Given the description of an element on the screen output the (x, y) to click on. 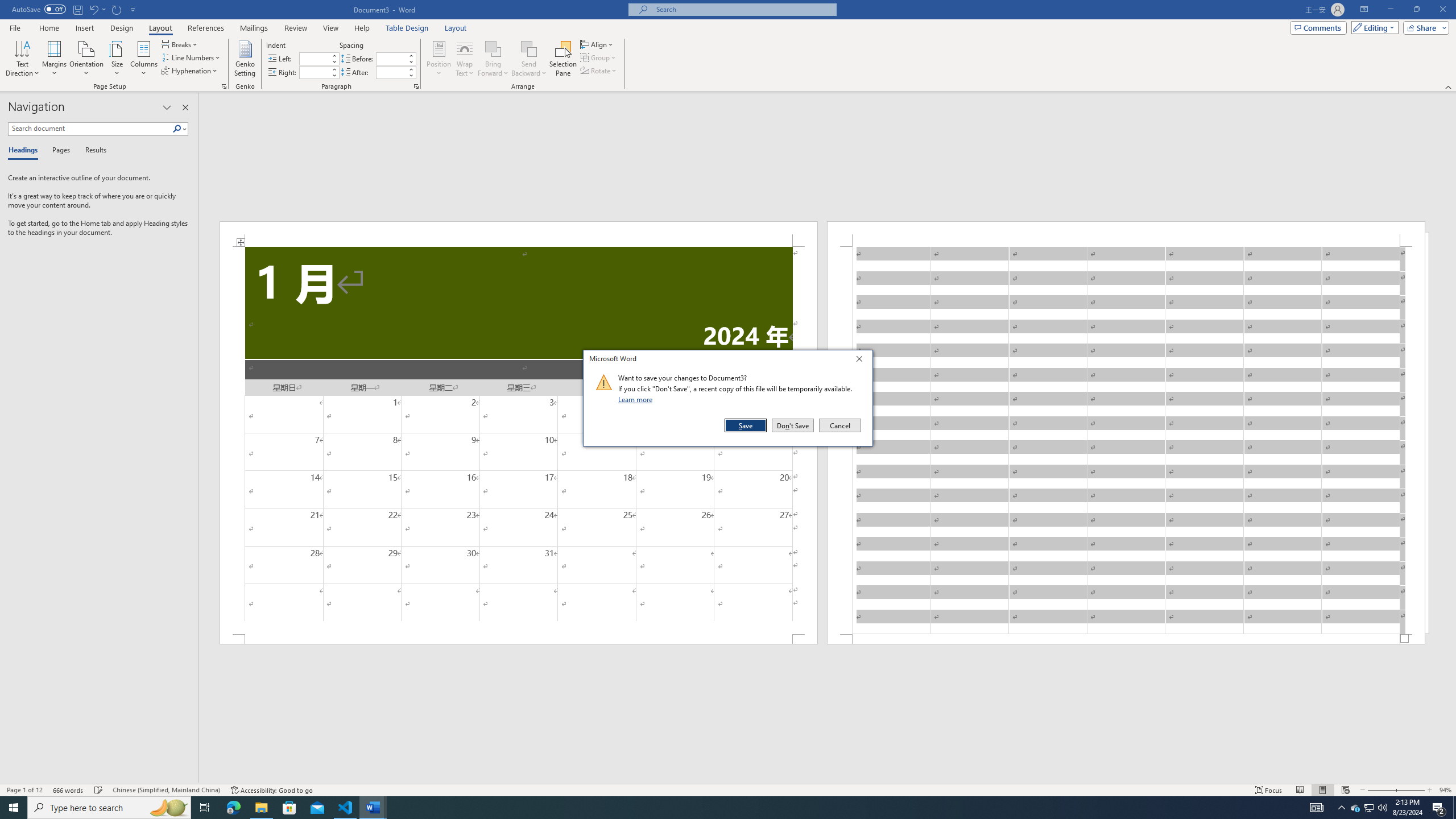
Indent Left (314, 58)
Rotate (599, 69)
Repeat Insert Row Below (117, 9)
Wrap Text (464, 58)
Undo Insert Row Below (92, 9)
Genko Setting... (244, 58)
User Promoted Notification Area (1355, 807)
